Given the description of an element on the screen output the (x, y) to click on. 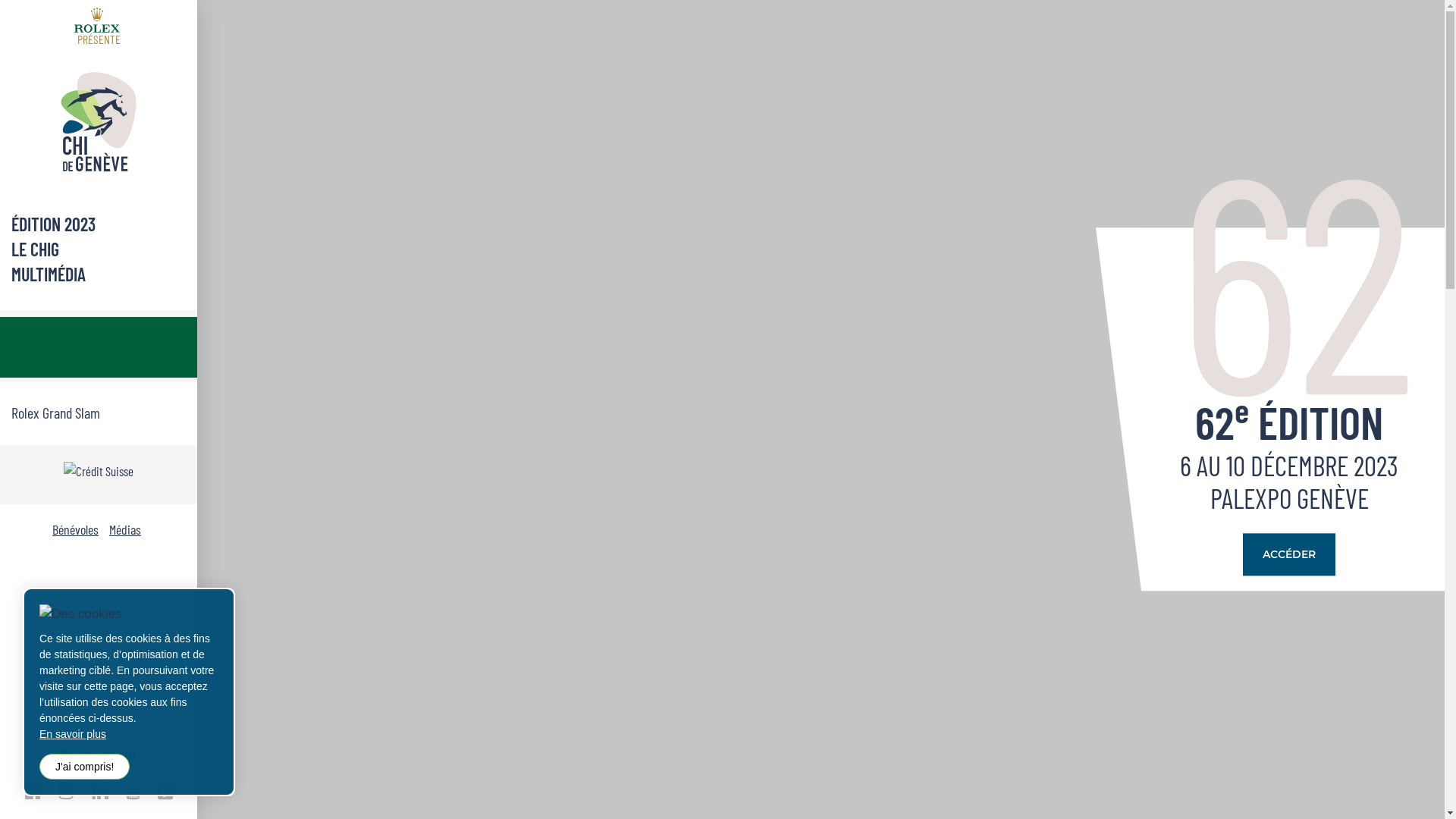
Rolex Grand Slam Element type: text (98, 412)
En savoir plus Element type: text (128, 734)
DE Element type: text (107, 754)
FR Element type: text (86, 754)
J'ai compris! Element type: text (84, 766)
EN Element type: text (128, 754)
LE CHIG Element type: text (98, 249)
